Given the description of an element on the screen output the (x, y) to click on. 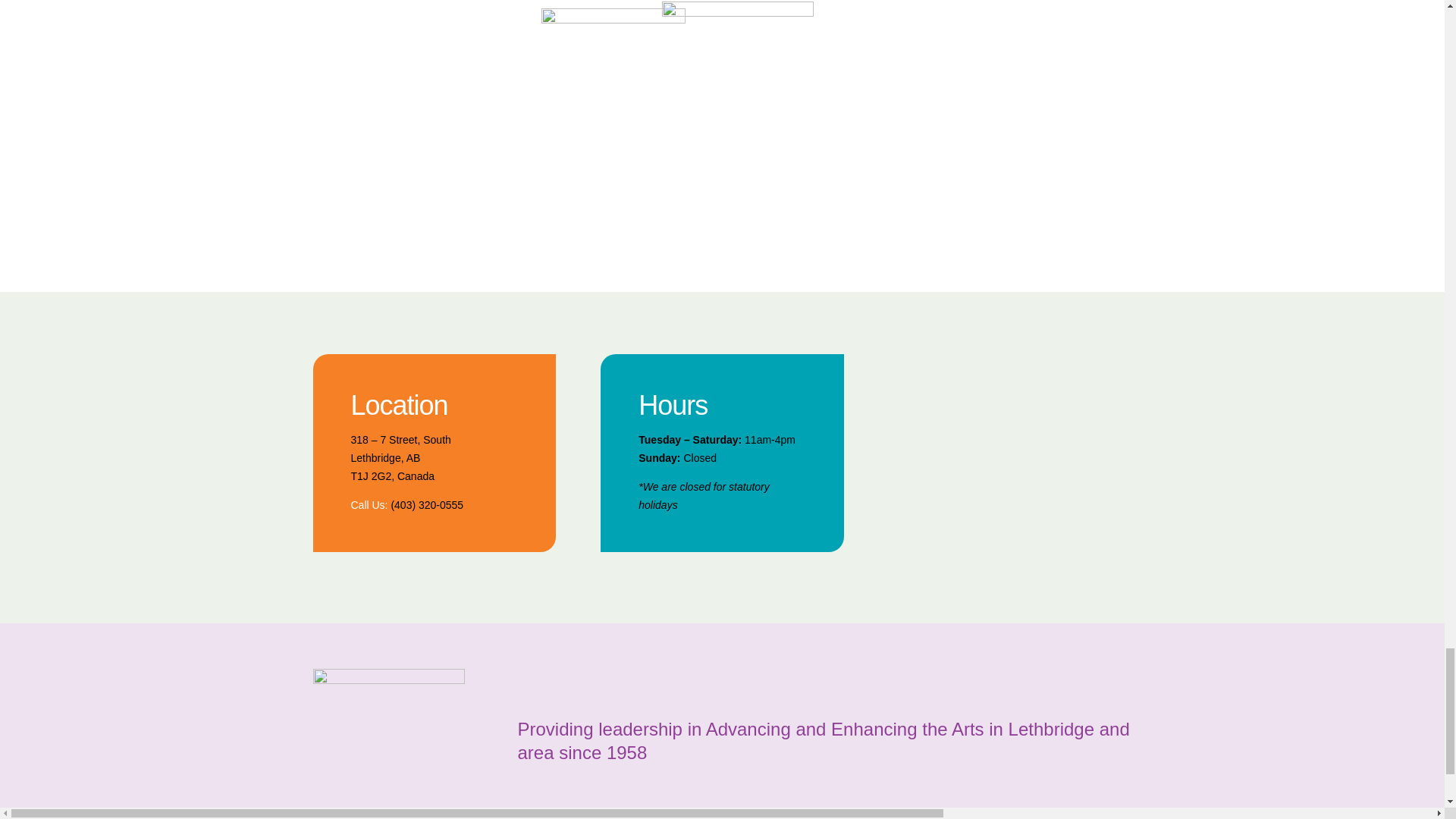
AAC-Logo-200-colour (388, 744)
cflsa-logo190 (613, 77)
Rozsa Foundation (1055, 110)
